Given the description of an element on the screen output the (x, y) to click on. 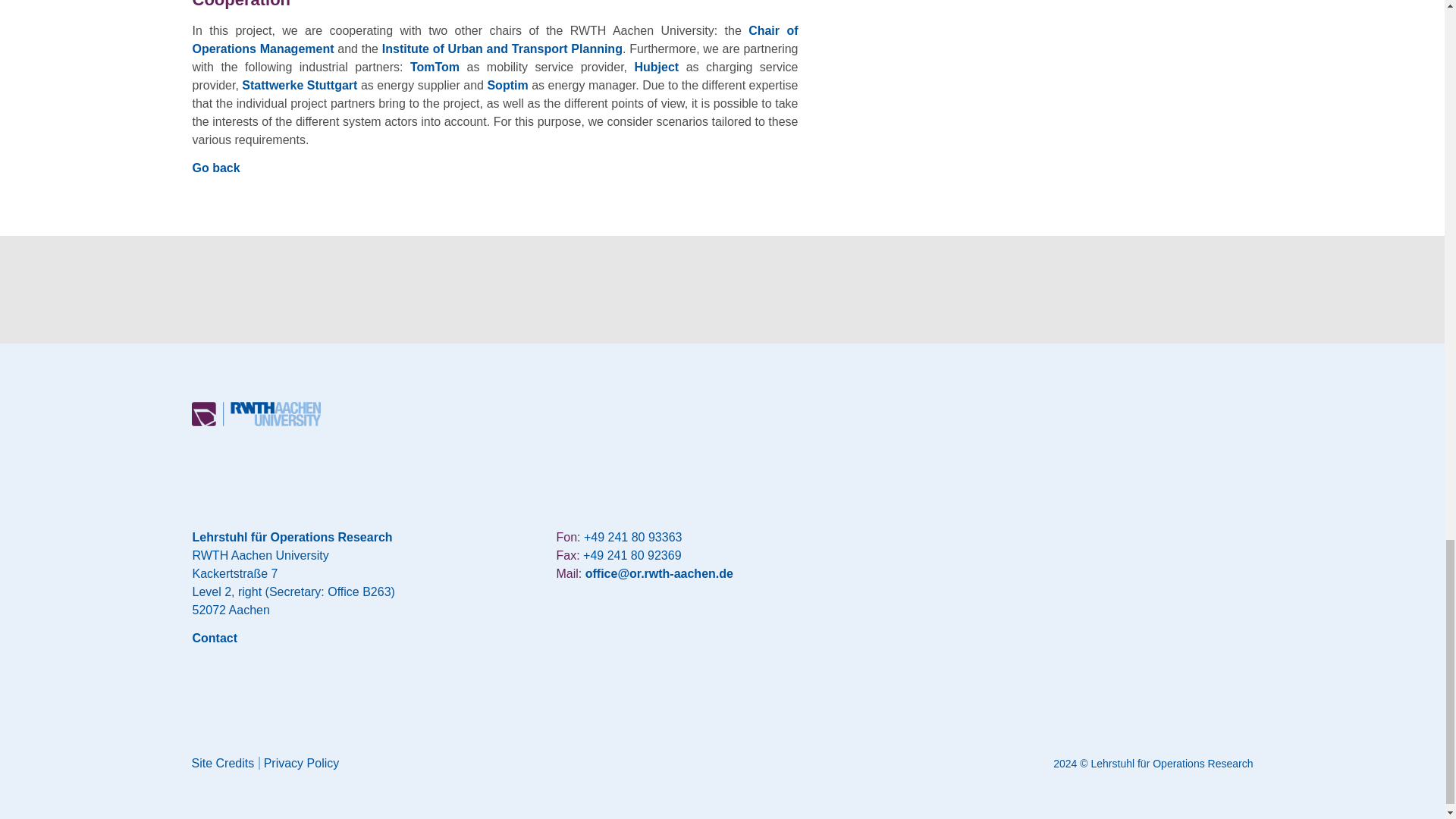
Stattwerke Stuttgart (298, 84)
TomTom (435, 66)
Hubject (656, 66)
Institute of Urban and Transport Planning (502, 48)
Go back (216, 167)
Chair of Operations Management (494, 39)
Home (255, 421)
Back home (255, 413)
